Given the description of an element on the screen output the (x, y) to click on. 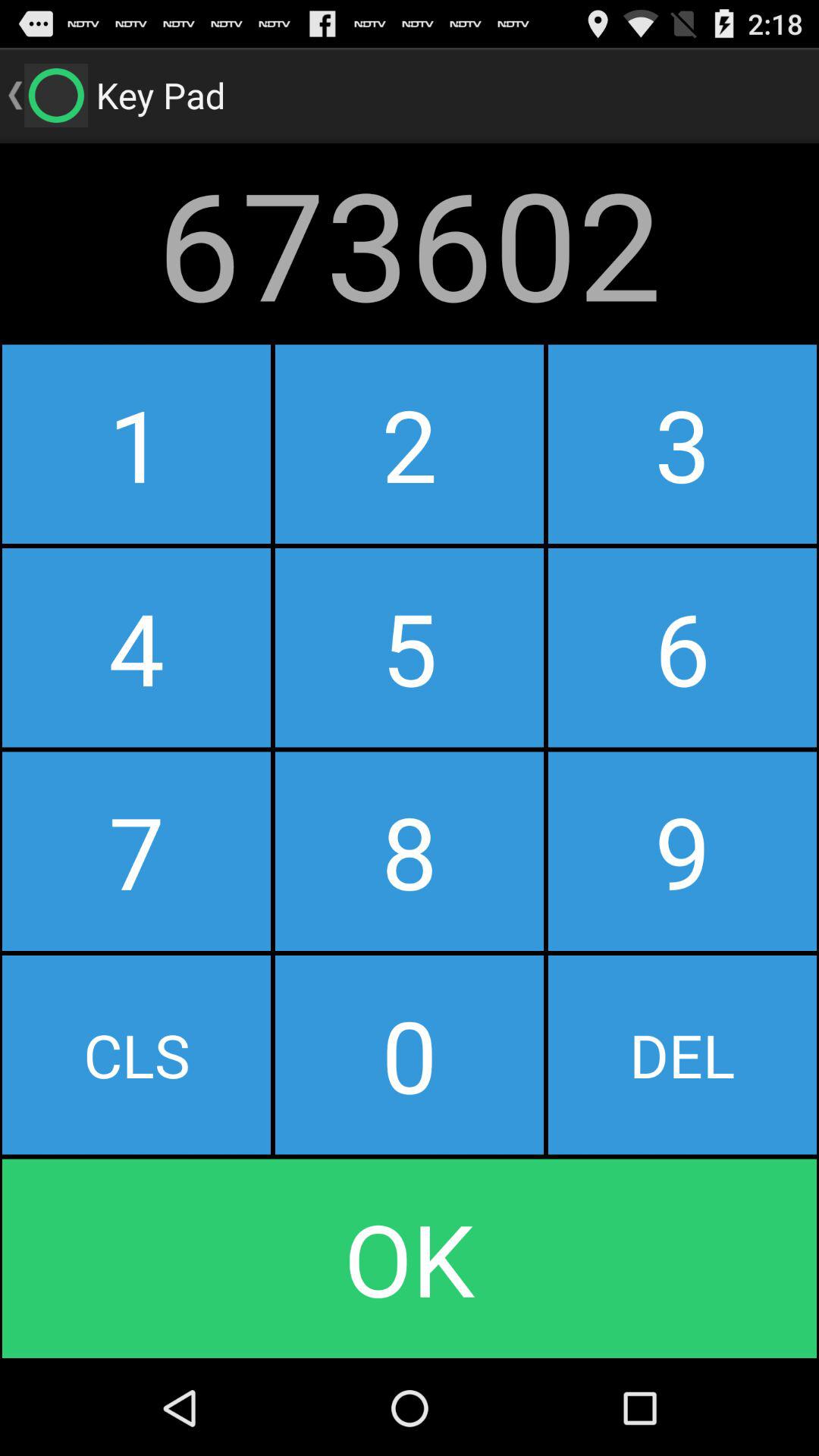
scroll to the 1 (136, 443)
